Given the description of an element on the screen output the (x, y) to click on. 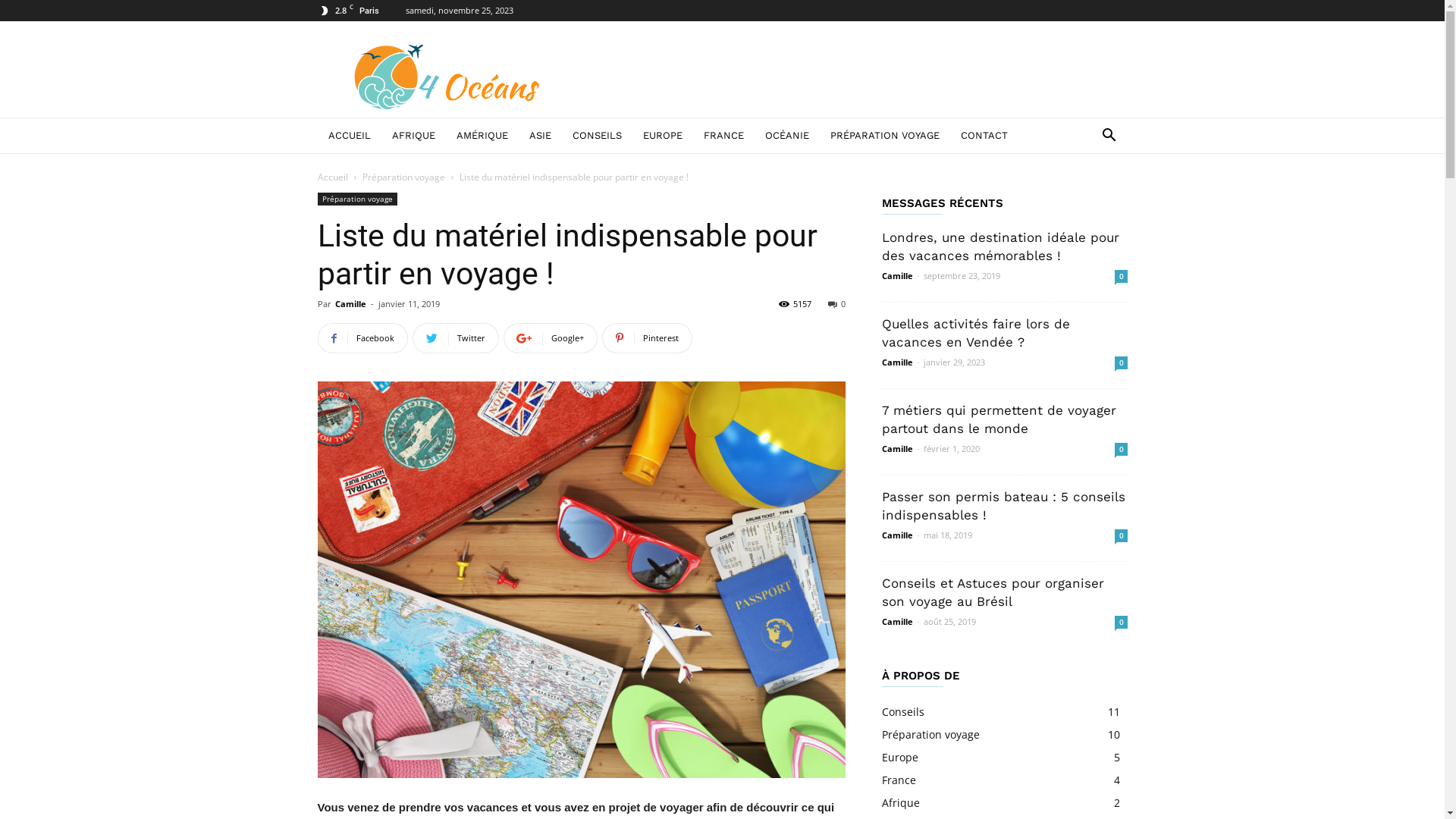
Afrique
2 Element type: text (900, 802)
0 Element type: text (1120, 448)
Camille Element type: text (896, 275)
Camille Element type: text (896, 621)
Camille Element type: text (896, 448)
Recherche Element type: text (1076, 196)
0 Element type: text (836, 303)
Accueil Element type: text (331, 176)
CONSEILS Element type: text (596, 135)
Pinterest Element type: text (647, 338)
0 Element type: text (1120, 275)
Camille Element type: text (350, 303)
Twitter Element type: text (455, 338)
Camille Element type: text (896, 361)
0 Element type: text (1120, 621)
0 Element type: text (1120, 362)
ASIE Element type: text (539, 135)
France
4 Element type: text (898, 779)
AFRIQUE Element type: text (412, 135)
0 Element type: text (1120, 535)
ACCUEIL Element type: text (348, 135)
Camille Element type: text (896, 534)
Facebook Element type: text (361, 338)
Passer son permis bateau : 5 conseils indispensables ! Element type: text (1002, 505)
CONTACT Element type: text (983, 135)
Europe
5 Element type: text (899, 756)
FRANCE Element type: text (723, 135)
Google+ Element type: text (550, 338)
EUROPE Element type: text (662, 135)
Conseils
11 Element type: text (902, 711)
